Given the description of an element on the screen output the (x, y) to click on. 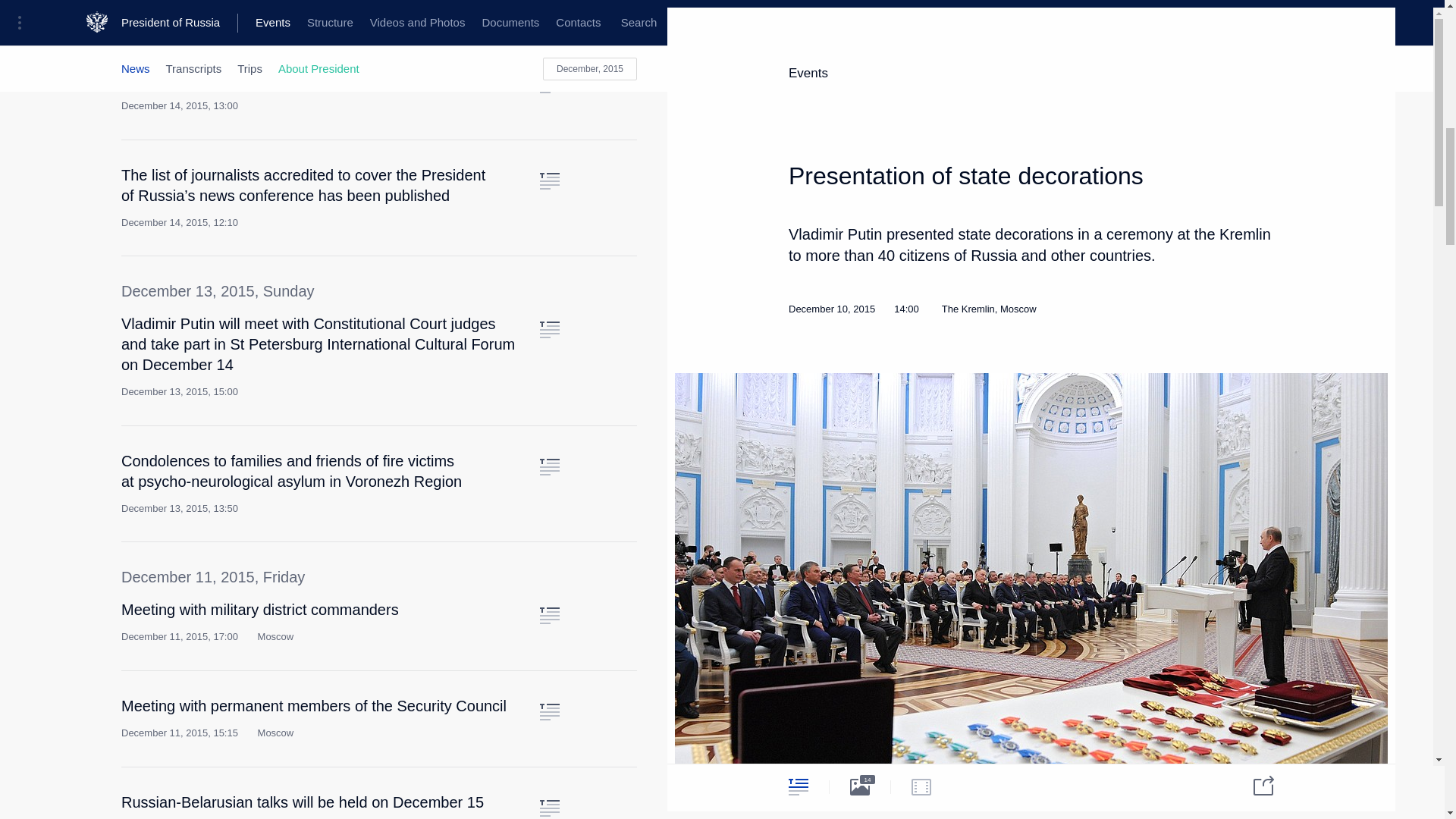
Text of the article (549, 329)
Text of the article (549, 84)
Text of the article (549, 615)
Text of the article (549, 466)
Text of the article (549, 180)
Text of the article (549, 808)
Text of the article (549, 711)
